Given the description of an element on the screen output the (x, y) to click on. 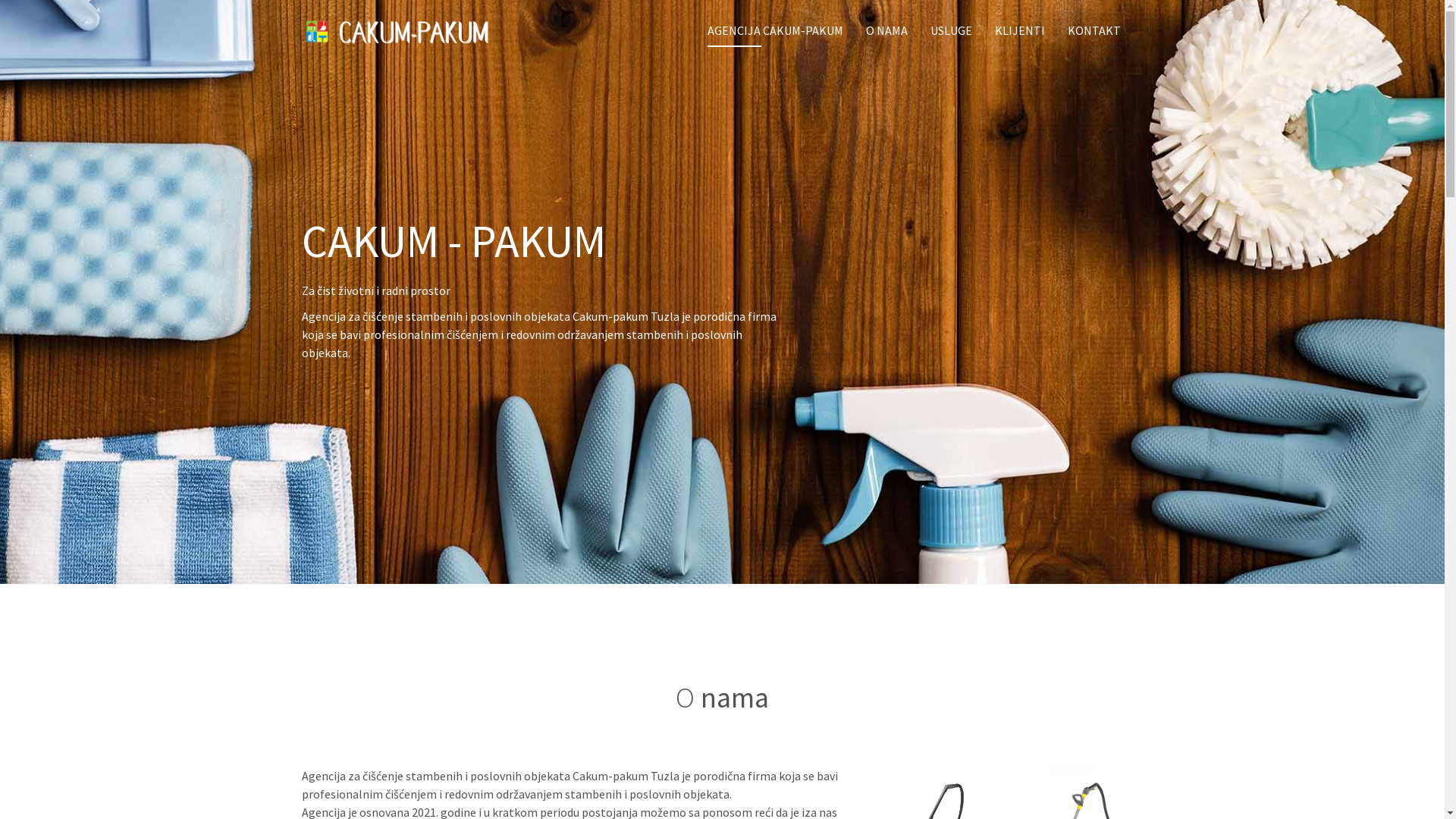
O NAMA Element type: text (886, 30)
KLIJENTI Element type: text (1019, 30)
AGENCIJA CAKUM-PAKUM Element type: text (774, 30)
USLUGE Element type: text (950, 30)
KONTAKT Element type: text (1093, 30)
